Given the description of an element on the screen output the (x, y) to click on. 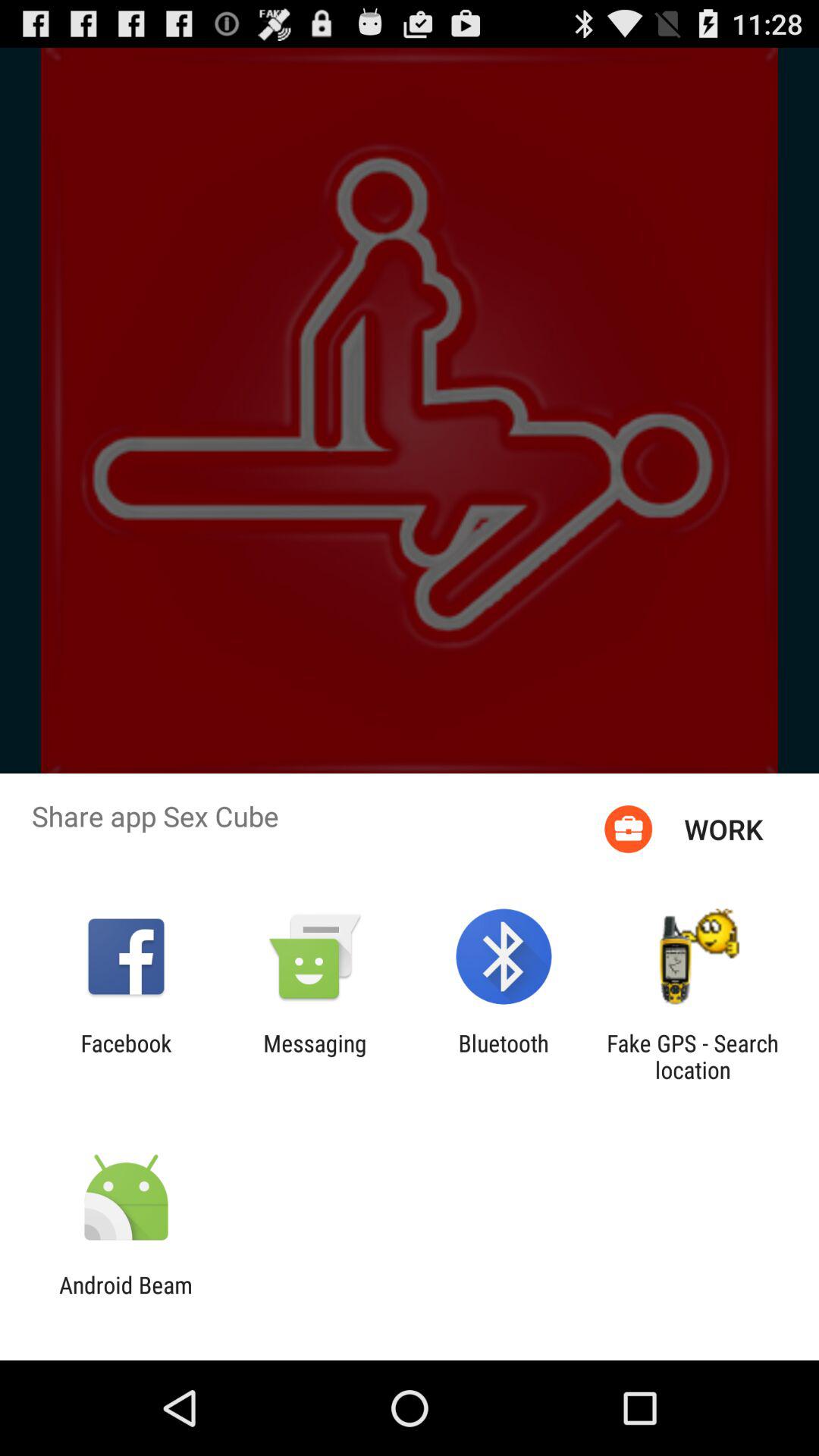
tap the icon to the left of messaging icon (125, 1056)
